Given the description of an element on the screen output the (x, y) to click on. 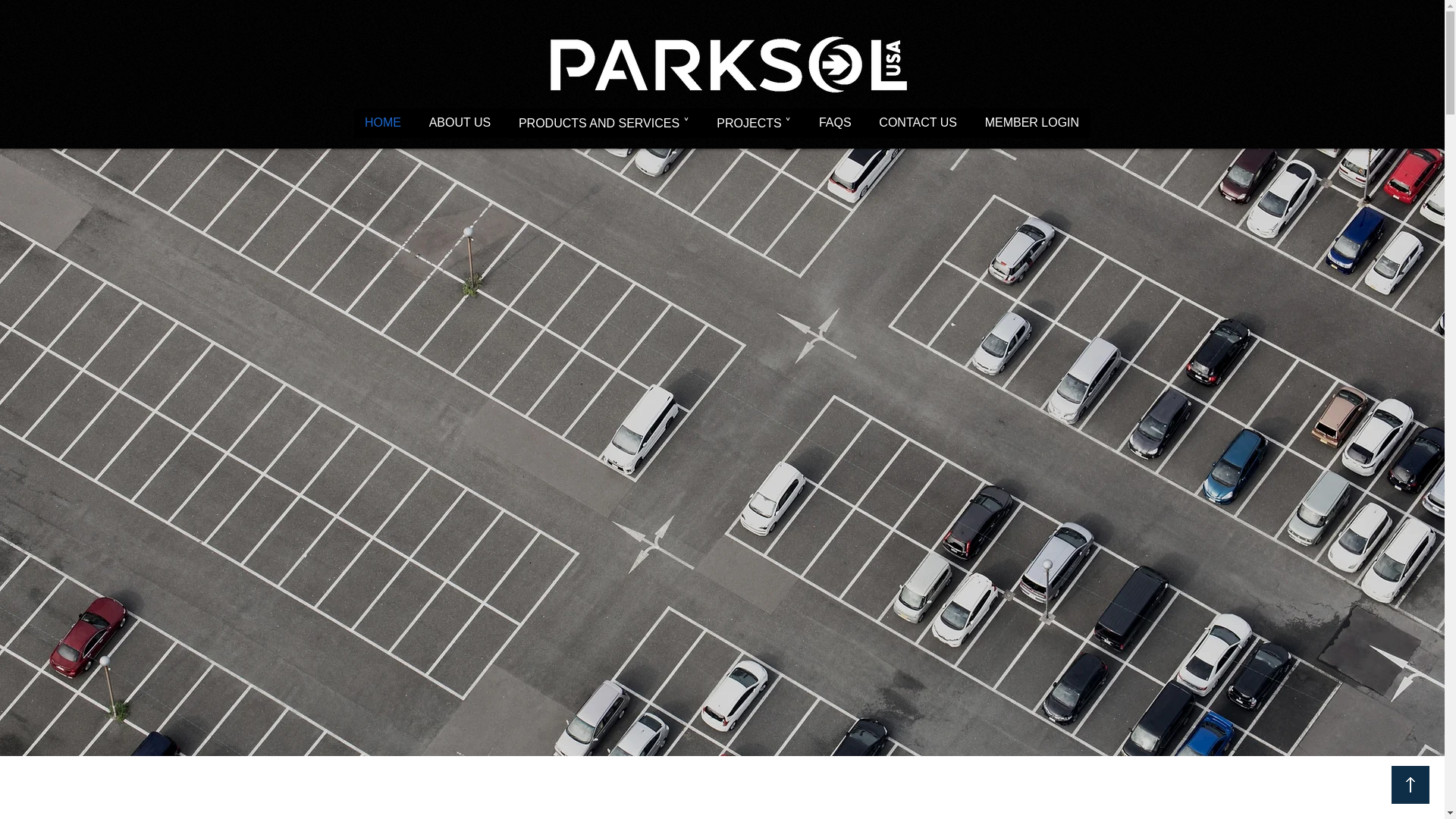
CONTACT US (917, 122)
ABOUT US (458, 122)
FAQS (834, 122)
HOME (382, 122)
MEMBER LOGIN (1031, 122)
